Given the description of an element on the screen output the (x, y) to click on. 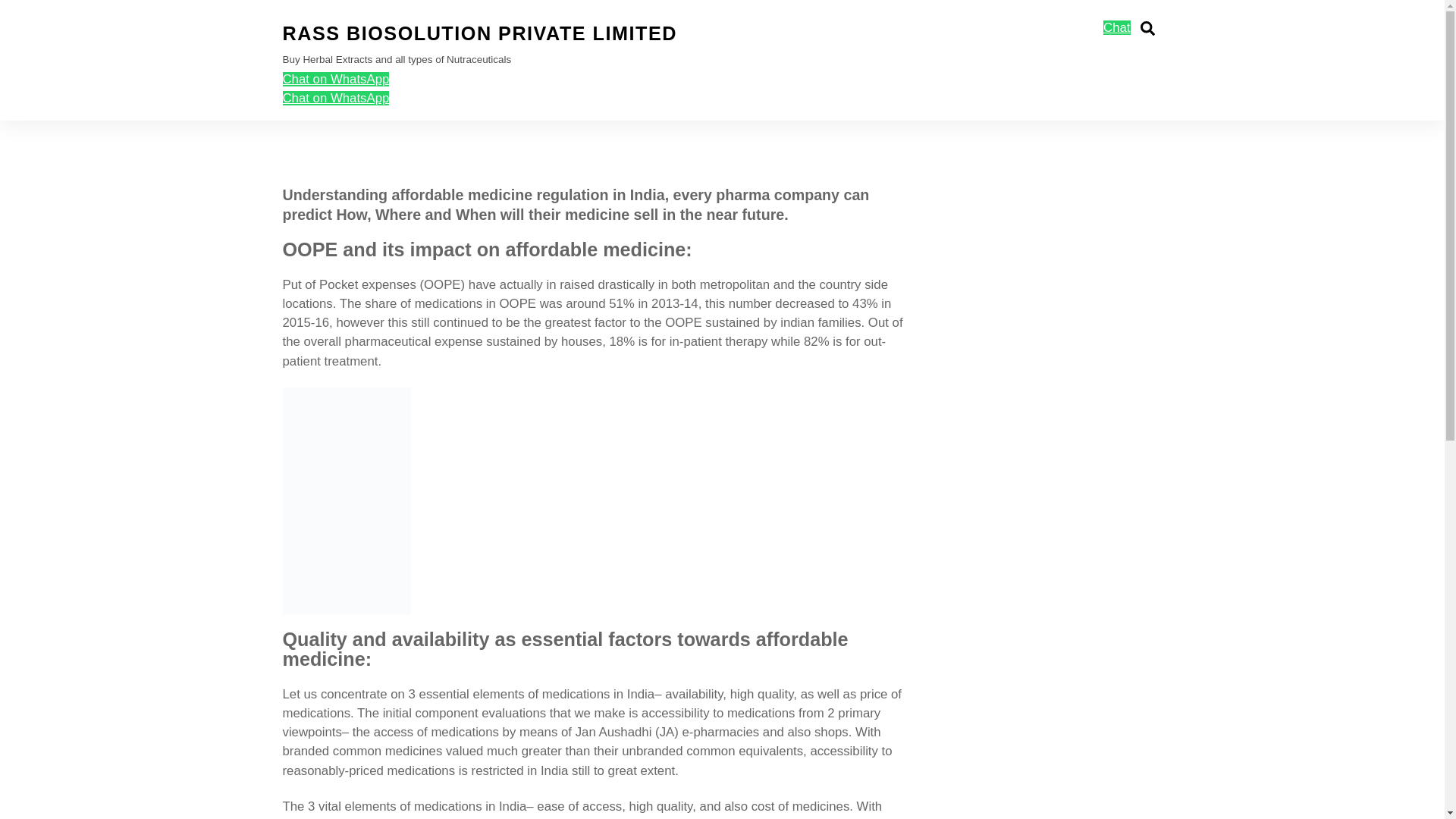
Rass Biosolution Private Limited (479, 33)
Search (721, 60)
Chat on WhatsApp (1146, 28)
Chat (335, 97)
Chat on WhatsApp (1116, 27)
RASS BIOSOLUTION PRIVATE LIMITED (335, 79)
